Given the description of an element on the screen output the (x, y) to click on. 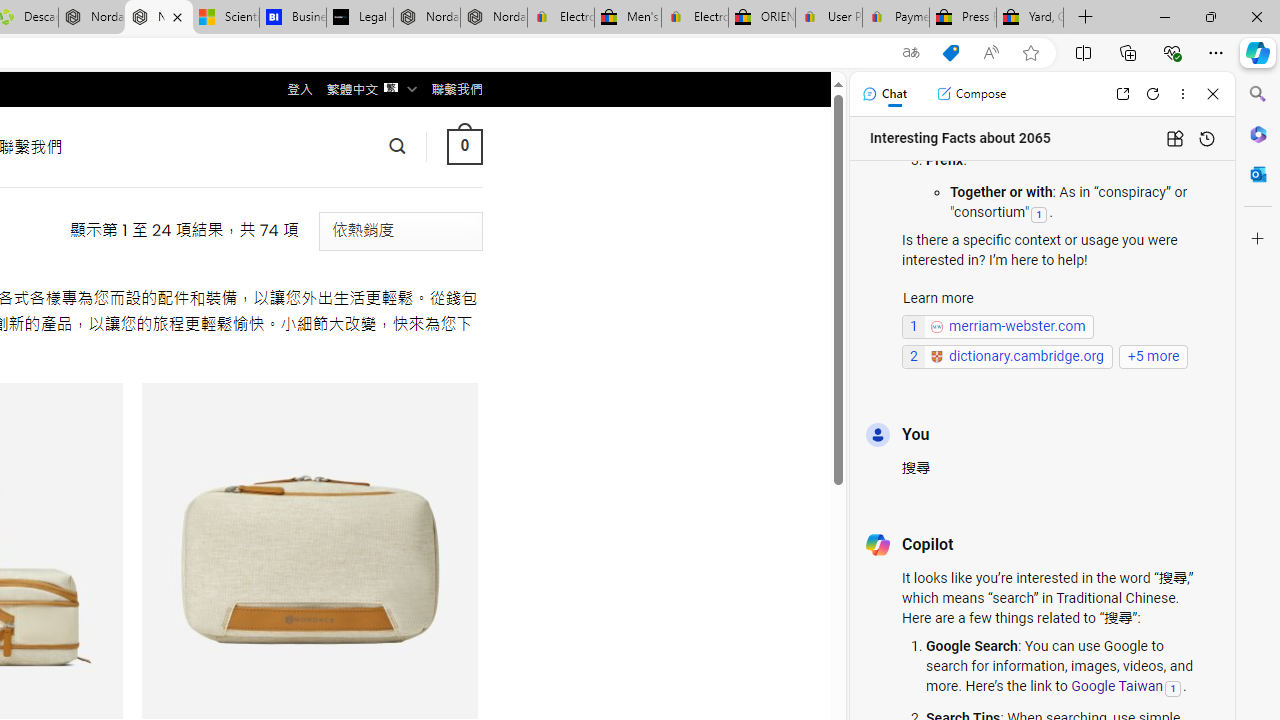
  0   (464, 146)
User Privacy Notice | eBay (828, 17)
Chat (884, 93)
Payments Terms of Use | eBay.com (895, 17)
Electronics, Cars, Fashion, Collectibles & More | eBay (694, 17)
Nordace - Summer Adventures 2024 (91, 17)
Compose (971, 93)
 0  (464, 146)
